Given the description of an element on the screen output the (x, y) to click on. 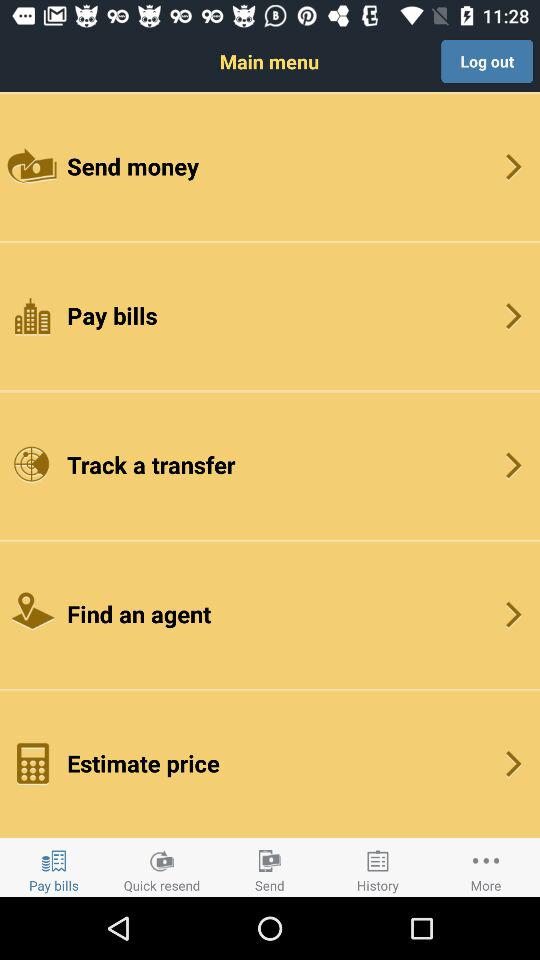
turn off the button above send money (487, 61)
